Given the description of an element on the screen output the (x, y) to click on. 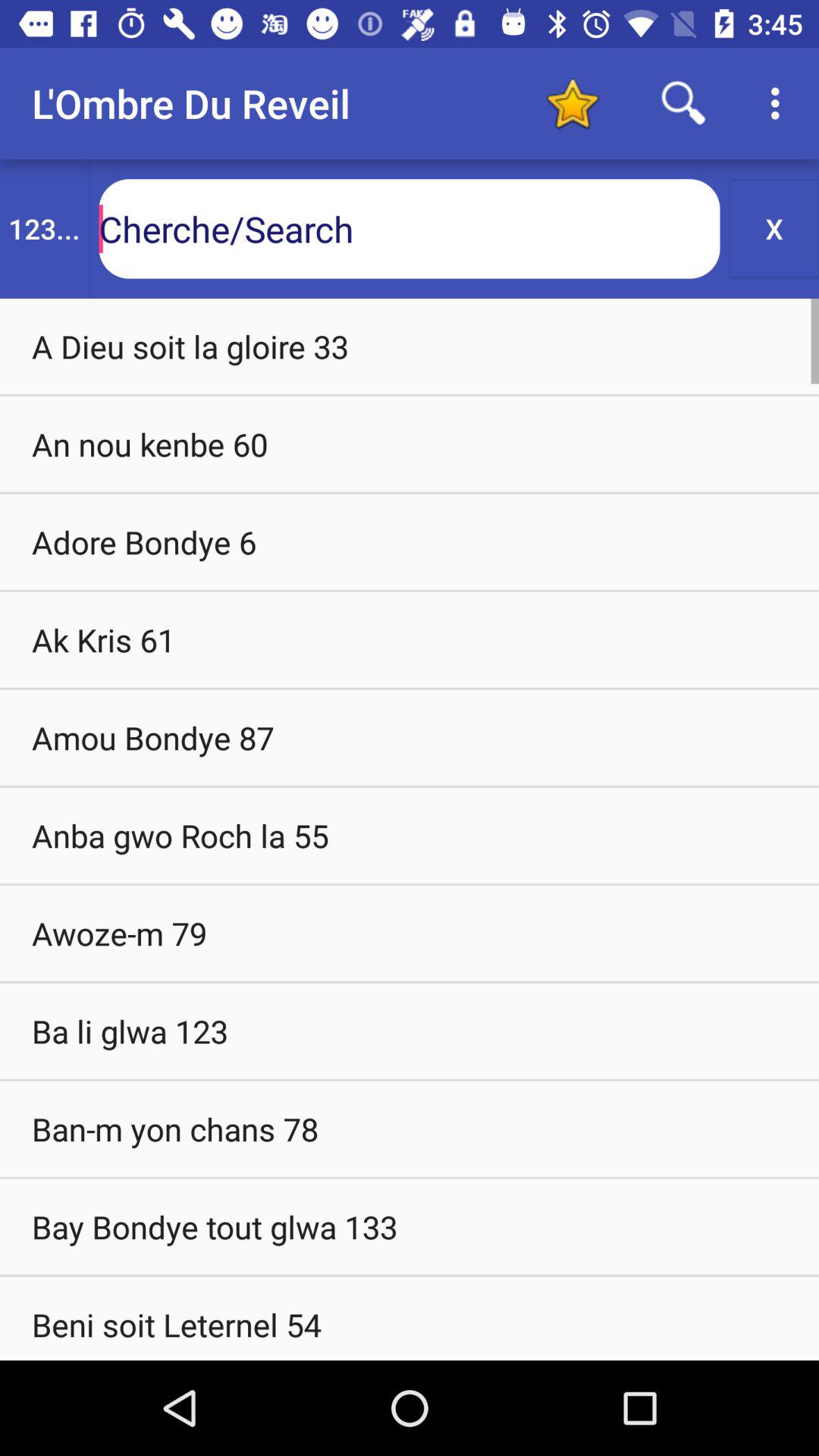
scroll to adore bondye 6 icon (409, 541)
